Given the description of an element on the screen output the (x, y) to click on. 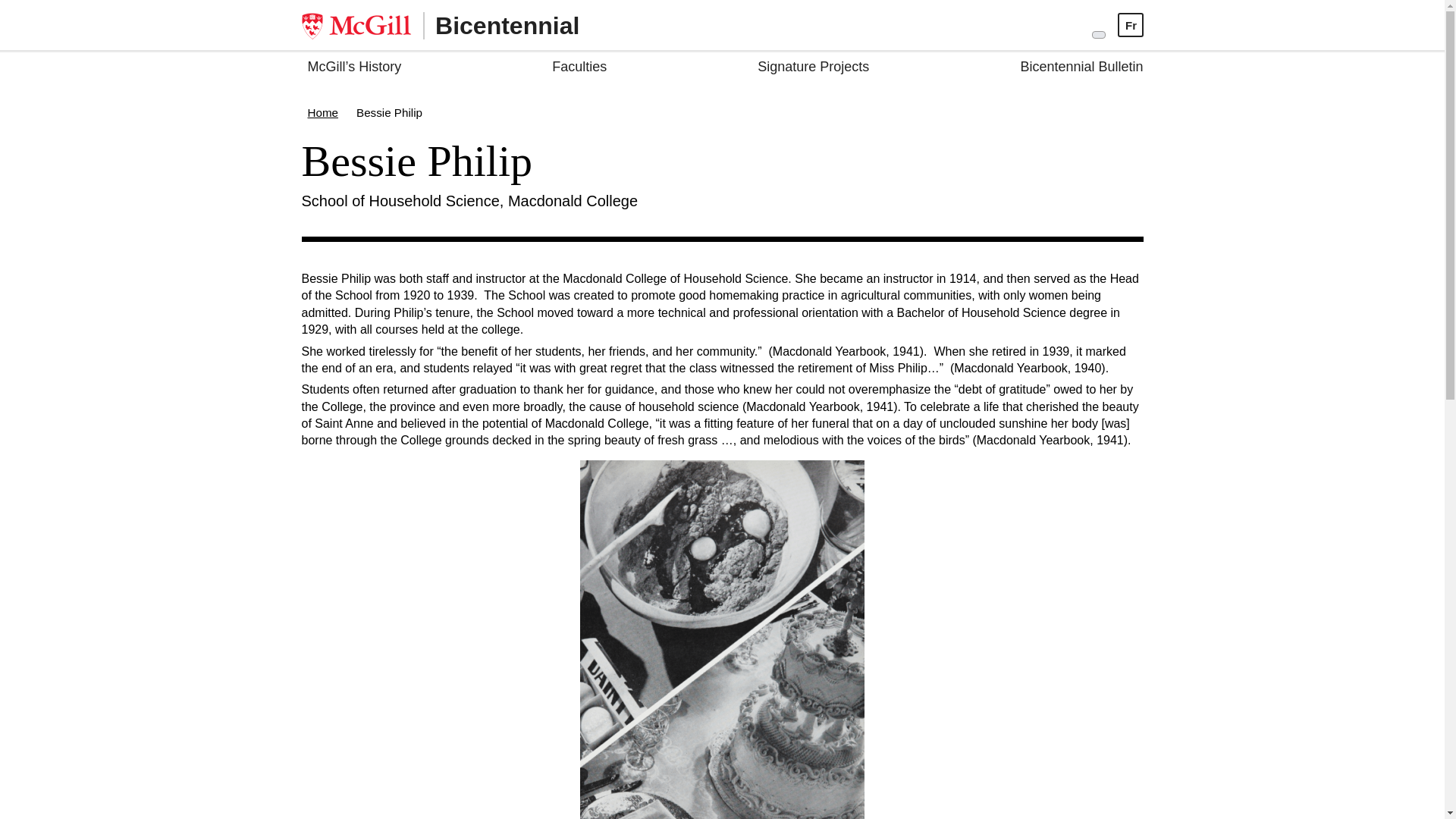
Bicentennial (440, 24)
Signature Projects (813, 68)
Bicentennial Bulletin (1081, 68)
Faculties (579, 68)
Fr (1130, 24)
Fr (1130, 25)
Bicentennial Bulletin (1081, 68)
Signature Projects (813, 68)
Faculties (579, 68)
Home (323, 112)
